Given the description of an element on the screen output the (x, y) to click on. 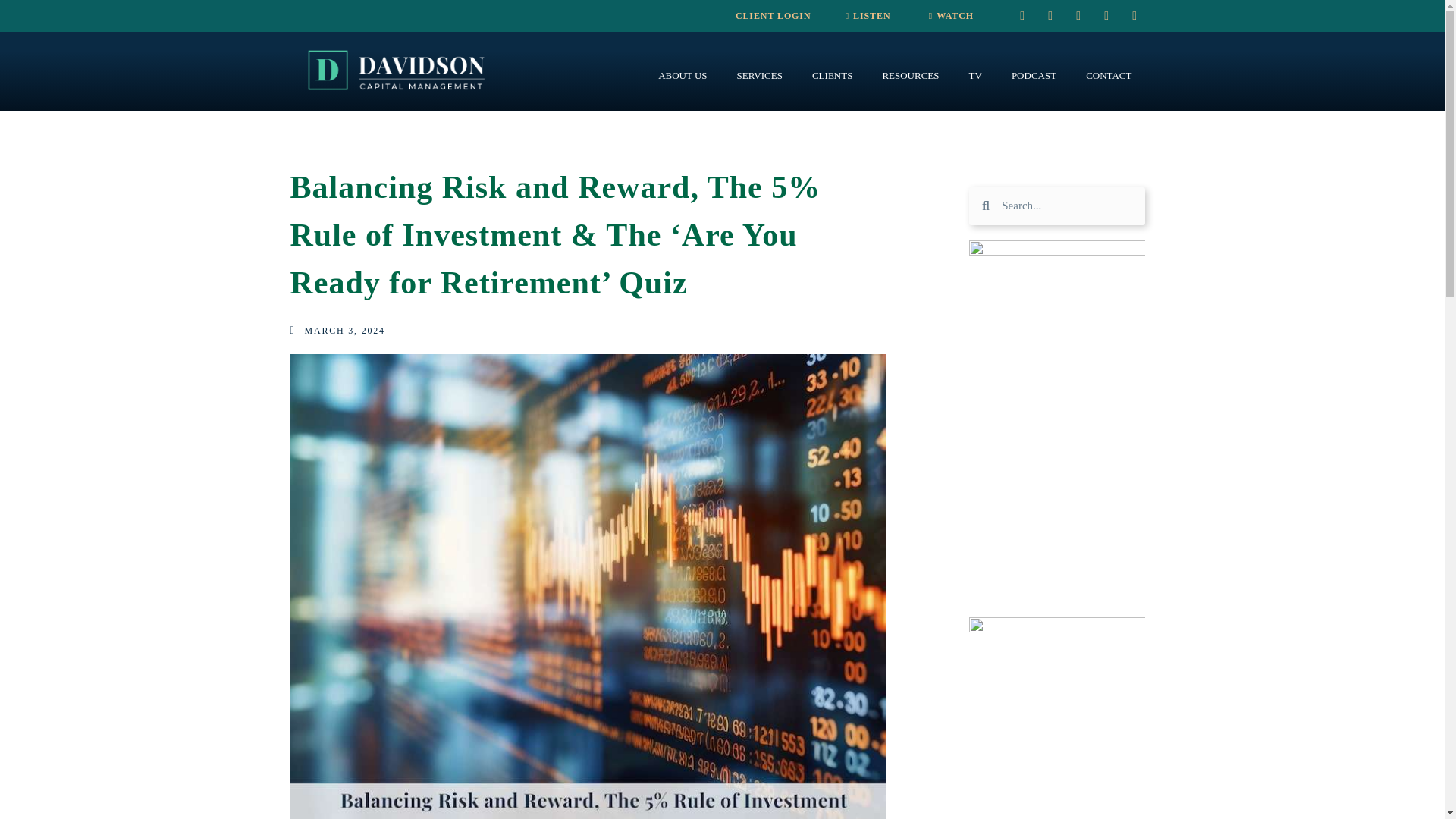
TV (975, 75)
ABOUT US (682, 75)
WATCH (951, 16)
CLIENTS (831, 75)
PODCAST (1033, 75)
Facebook-f (1077, 15)
Twitter (1106, 15)
RESOURCES (909, 75)
SERVICES (759, 75)
CLIENT LOGIN (772, 16)
